Given the description of an element on the screen output the (x, y) to click on. 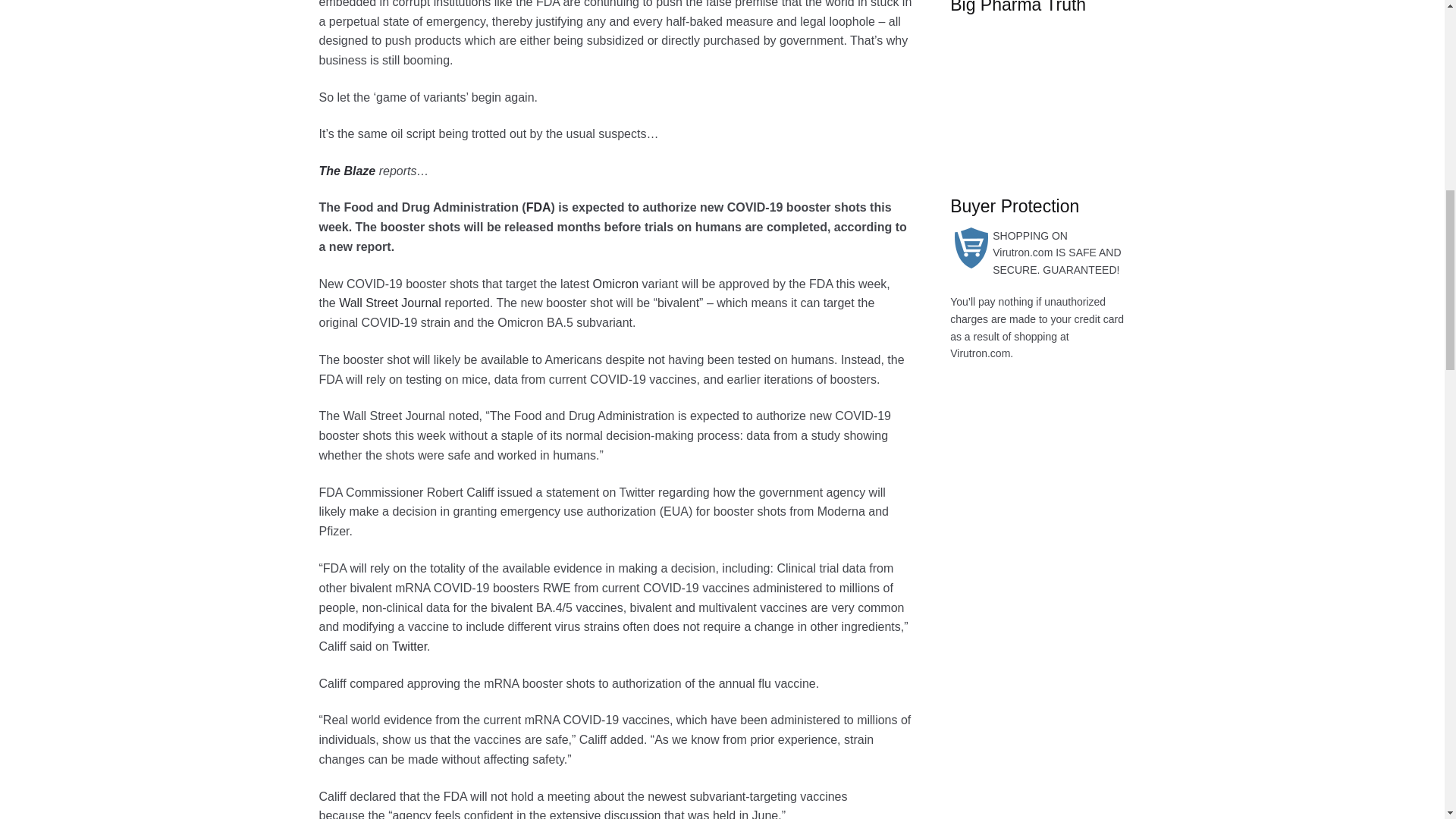
FDA (538, 206)
The Blaze (346, 170)
